Given the description of an element on the screen output the (x, y) to click on. 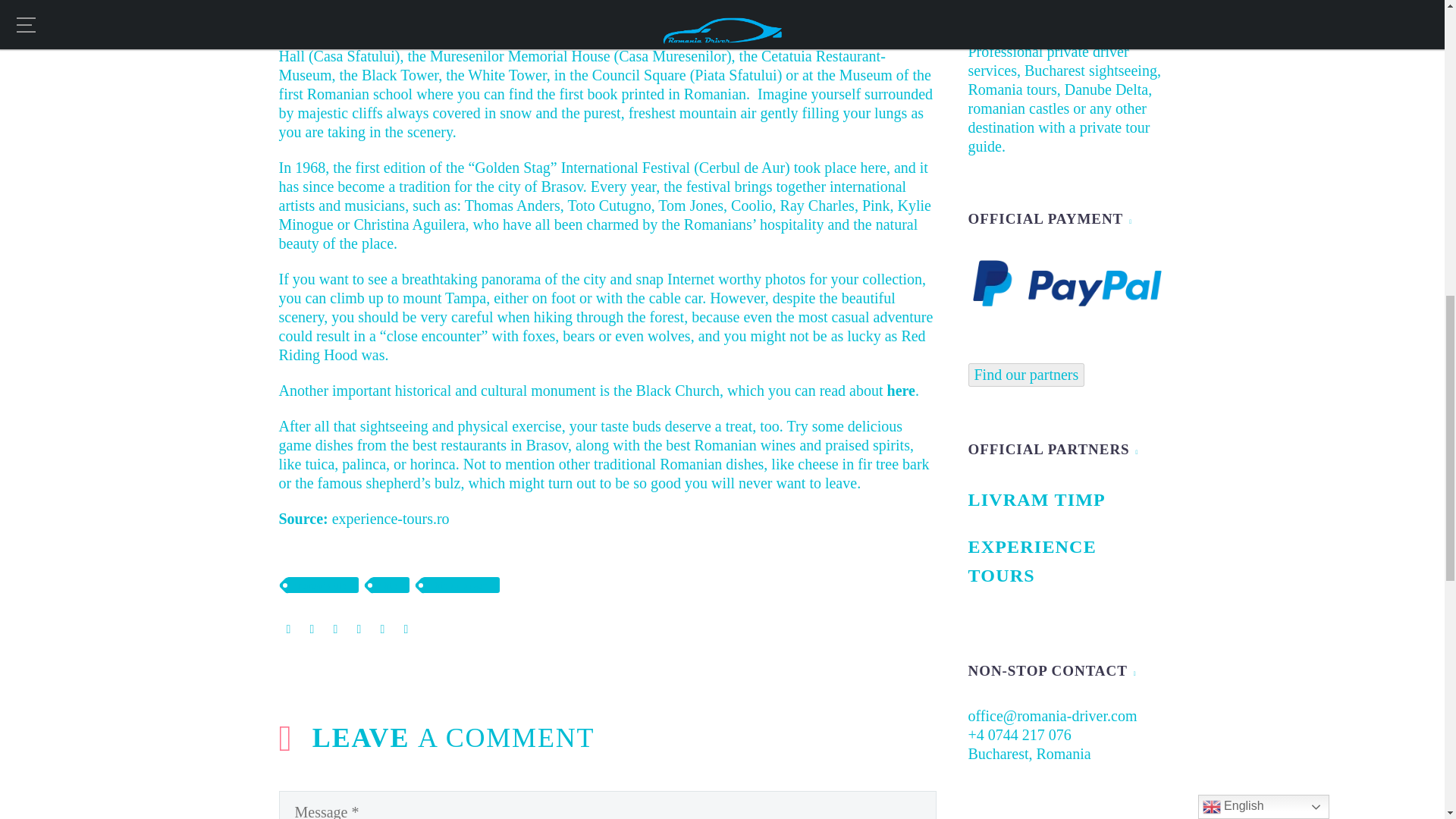
Reddit (406, 629)
trip to brasov (460, 584)
LinkedIn (381, 629)
Facebook (288, 629)
Find our partners (1026, 374)
Twitter (311, 629)
Private trip to Black church Brasov (900, 390)
Pinterest (334, 629)
Tumblr (359, 629)
experience-tours.ro (390, 518)
EXPERIENCE TOURS (1067, 560)
romania trip (322, 584)
here (900, 390)
Find our partners (1026, 374)
LIVRAM TIMP (1067, 499)
